Given the description of an element on the screen output the (x, y) to click on. 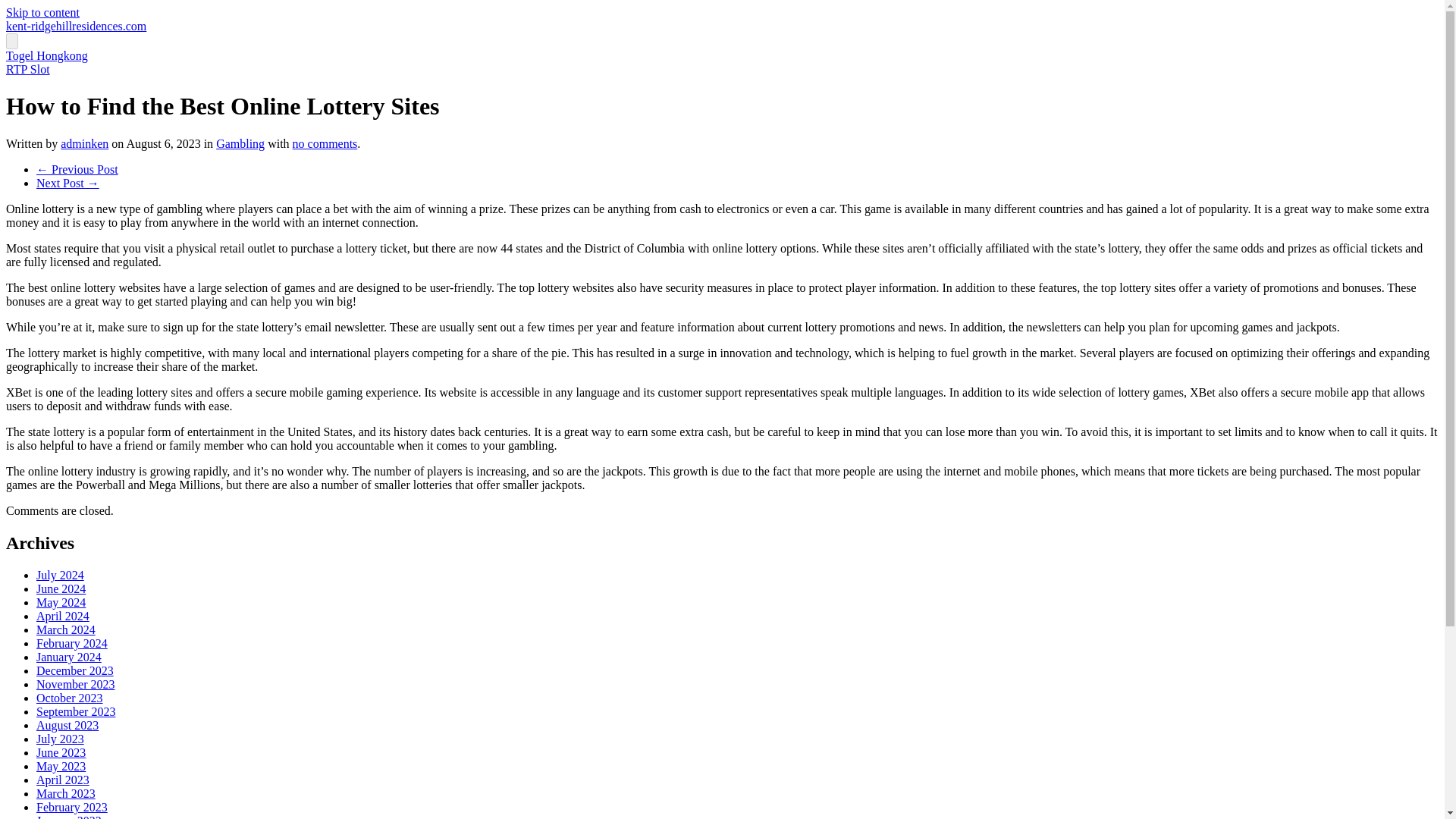
July 2023 (60, 738)
Togel Hongkong (46, 55)
November 2023 (75, 684)
Skip to content (42, 11)
February 2023 (71, 807)
June 2024 (60, 588)
October 2023 (69, 697)
May 2023 (60, 766)
March 2023 (66, 793)
August 2023 (67, 725)
open navigation links (11, 41)
May 2024 (60, 602)
Menu (11, 41)
adminken (84, 143)
July 2024 (60, 574)
